Given the description of an element on the screen output the (x, y) to click on. 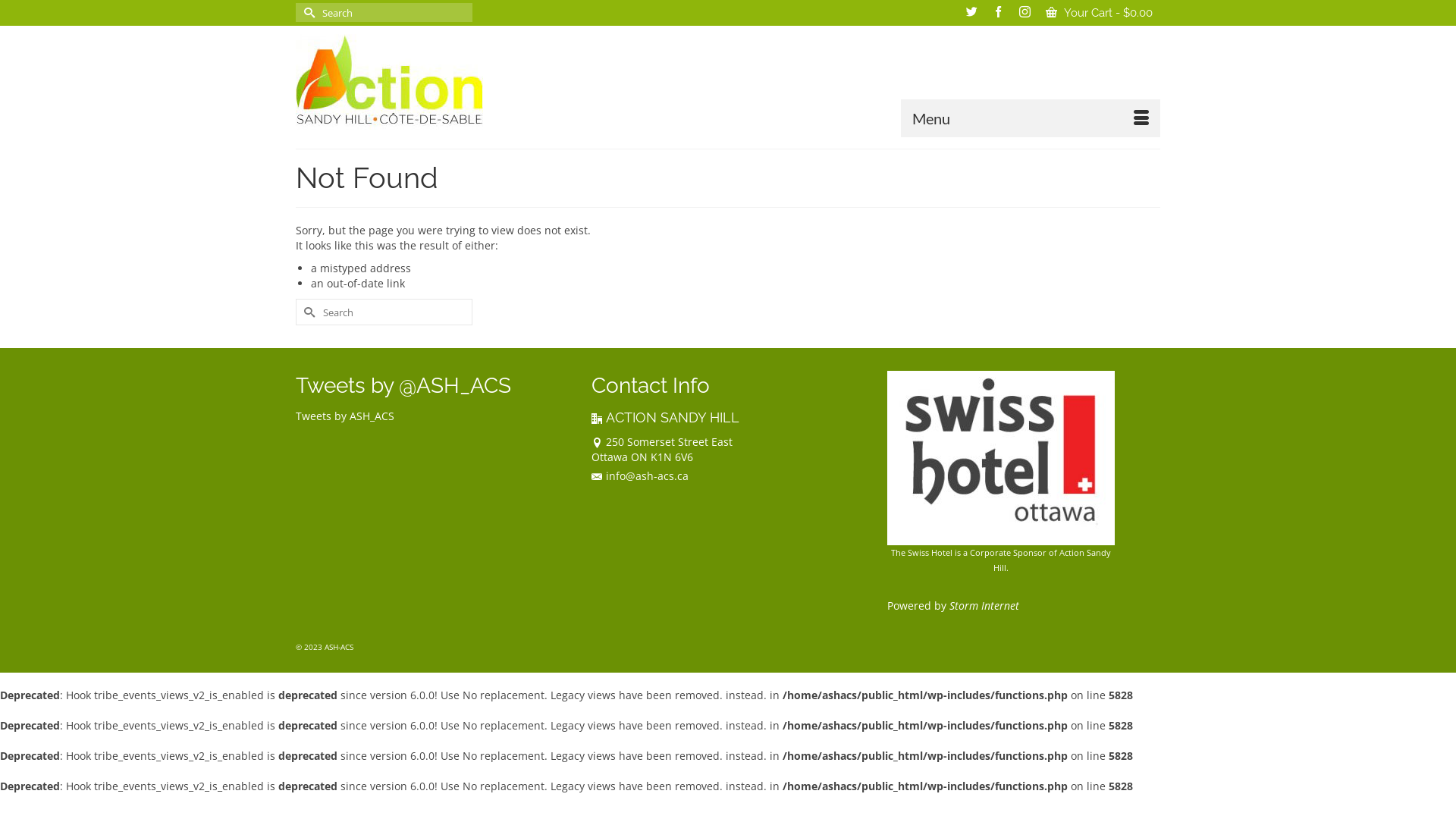
Your Cart - $0.00 Element type: text (1099, 12)
ASH-ACS Element type: hover (431, 81)
Tweets by ASH_ACS Element type: text (344, 415)
Storm Internet Element type: text (984, 605)
Menu Element type: text (1030, 118)
info@ash-acs.ca Element type: text (639, 475)
